Given the description of an element on the screen output the (x, y) to click on. 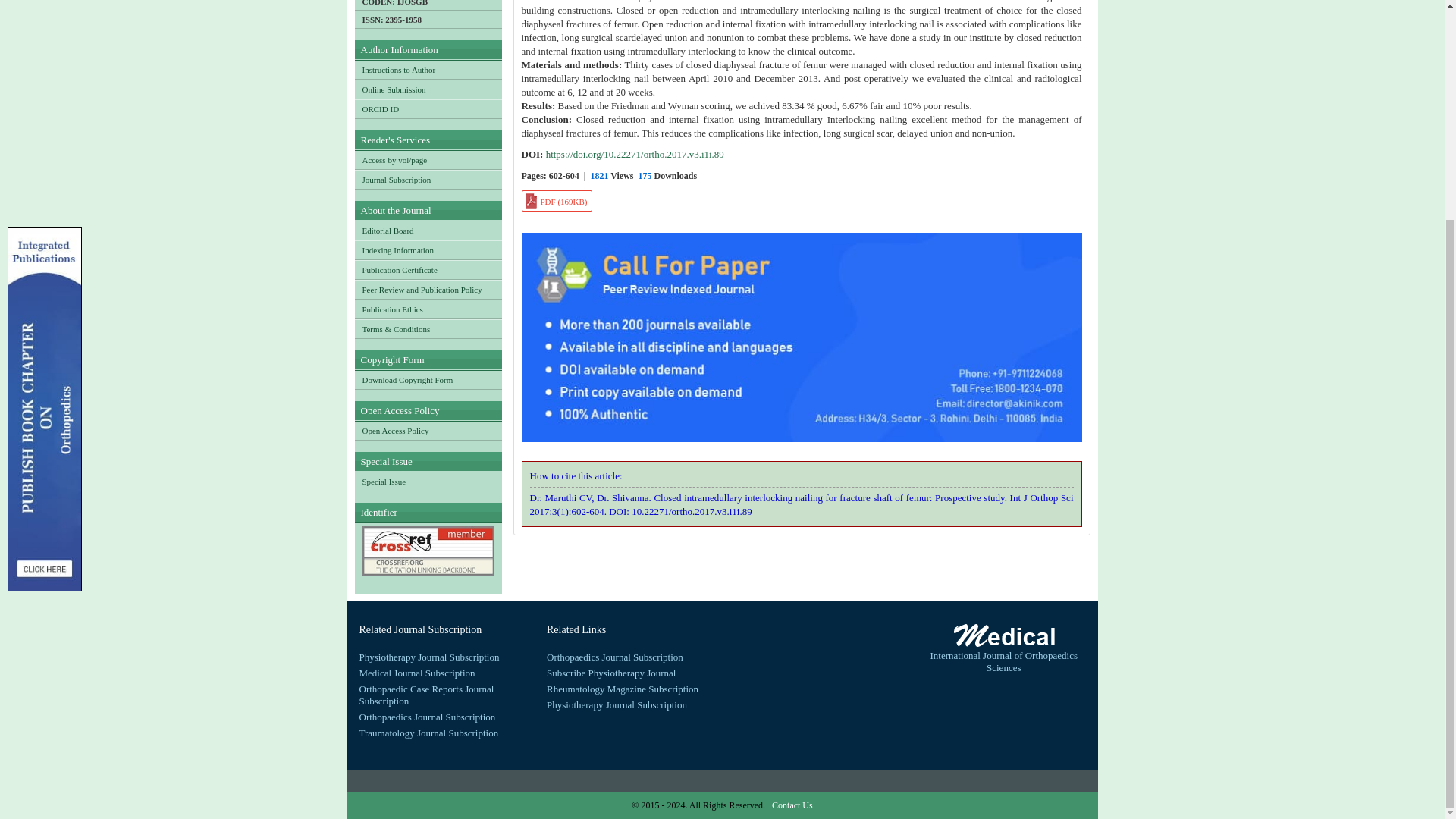
Instructions to Author (428, 69)
Publication Certificate (428, 270)
Publication Ethics (428, 309)
Special Issue (428, 481)
Open Access Policy (428, 430)
Indexing Information (428, 249)
Editorial Board (428, 230)
Journal Subscription (428, 179)
ORCID ID (428, 108)
Peer Review and Publication Policy (428, 289)
Online Submission (428, 89)
Download Copyright Form (428, 380)
